Given the description of an element on the screen output the (x, y) to click on. 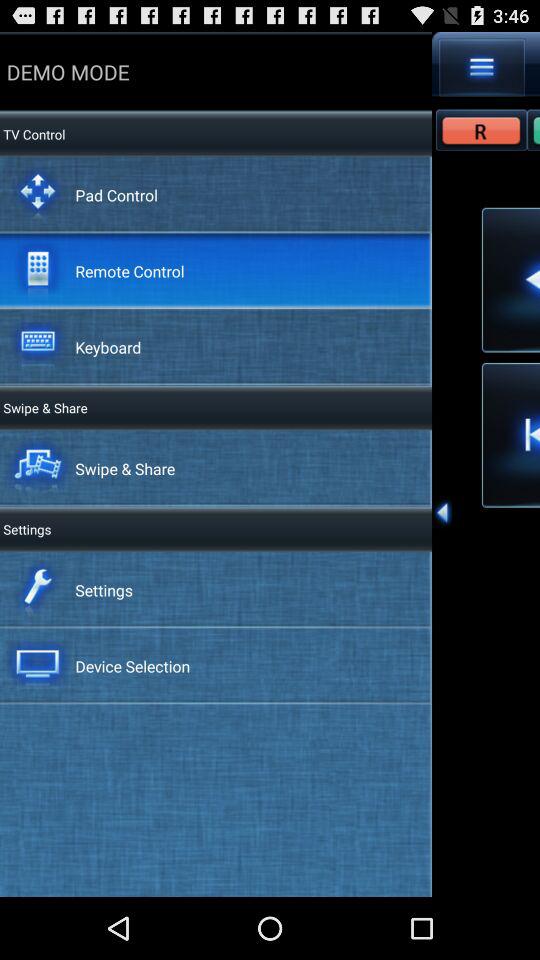
open menu (481, 67)
